Given the description of an element on the screen output the (x, y) to click on. 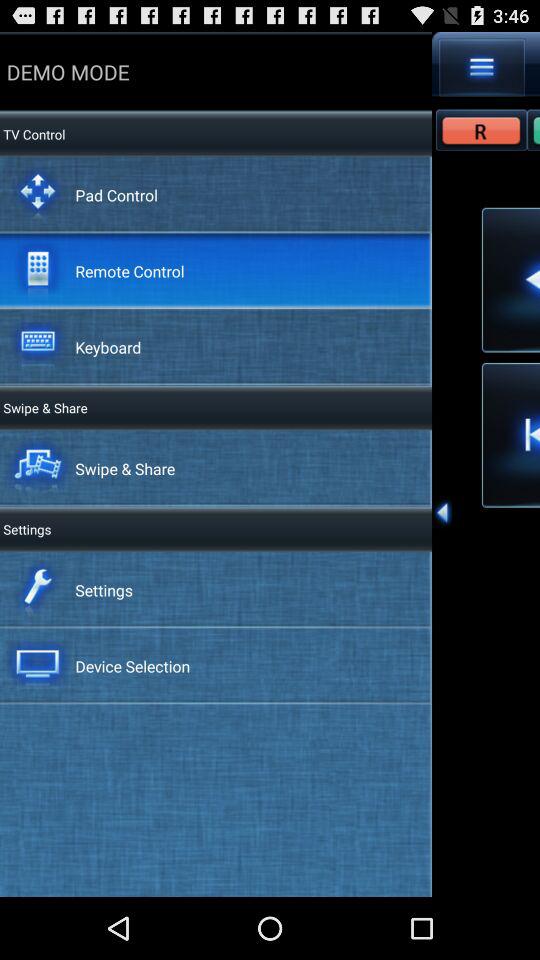
open menu (481, 67)
